Given the description of an element on the screen output the (x, y) to click on. 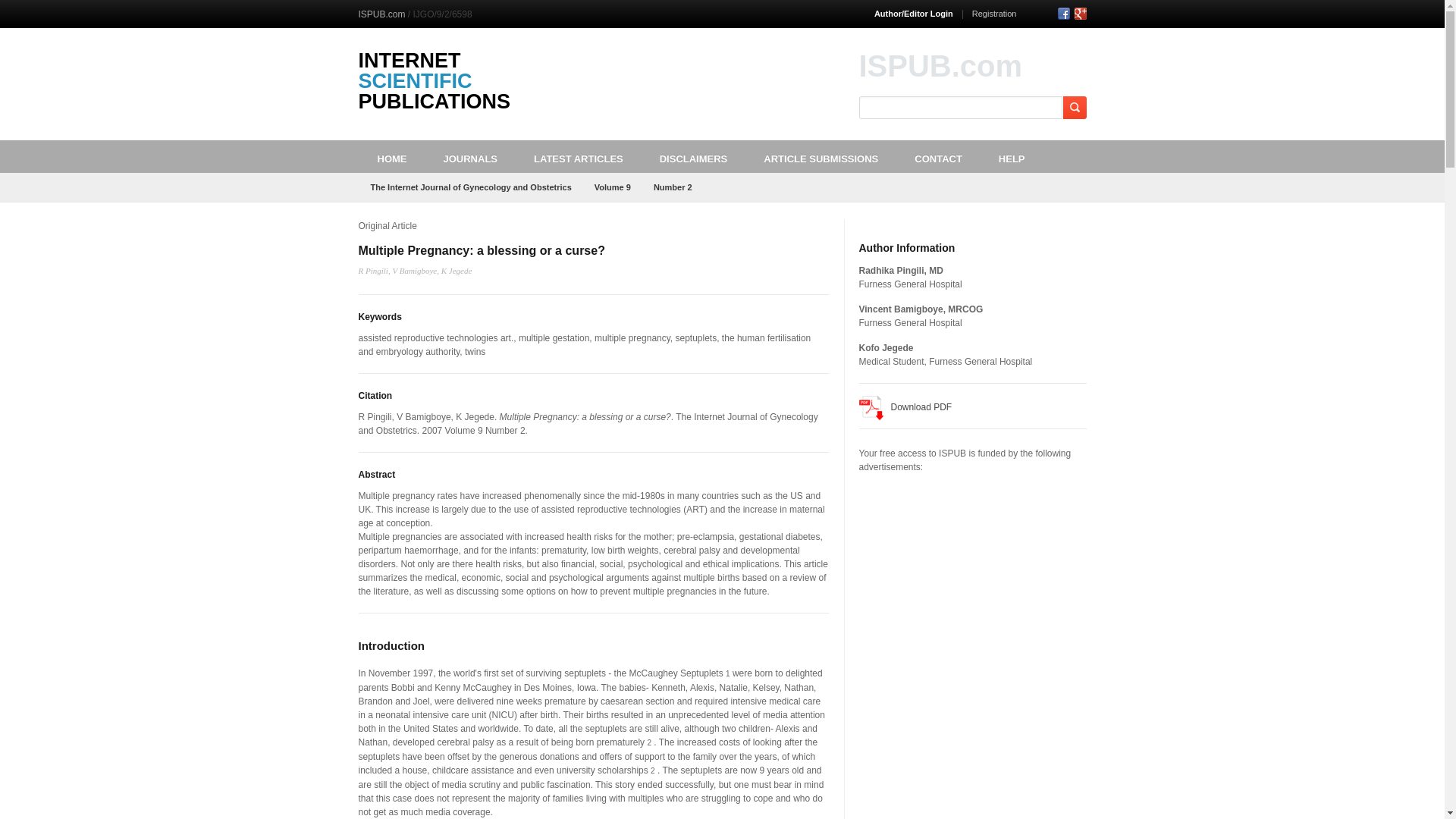
Volume 9 (612, 187)
Registration (994, 13)
Search (1074, 107)
HELP (1011, 156)
LATEST ARTICLES (578, 156)
Search... (960, 107)
Multiple Pregnancy: a blessing or a curse? (481, 250)
ISPUB.com (381, 14)
JOURNALS (470, 156)
Facebook (1062, 13)
